Given the description of an element on the screen output the (x, y) to click on. 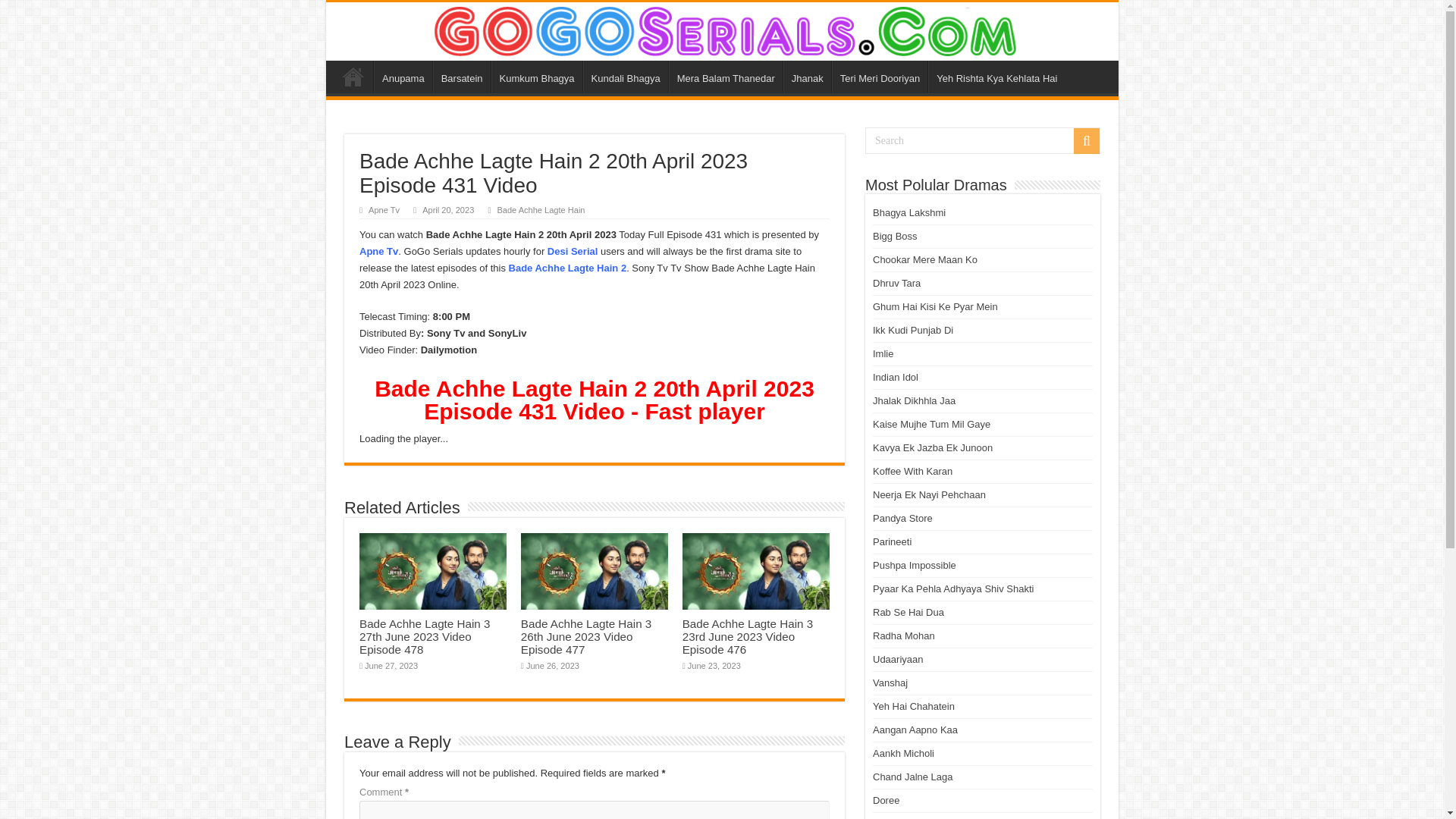
Kundali Bhagya (625, 76)
Bade Achhe Lagte Hain 3 27th June 2023 Video Episode 478 (424, 636)
Dhruv Tara (896, 283)
Jhanak (807, 76)
Teri Meri Dooriyan (879, 76)
Home (352, 76)
Bigg Boss (894, 235)
Kumkum Bhagya (537, 76)
Bade Achhe Lagte Hain 2 (567, 267)
Barsatein (461, 76)
Chookar Mere Maan Ko (924, 259)
GoGo Serials (721, 28)
Anupama (403, 76)
Bade Achhe Lagte Hain (540, 209)
Search (1086, 140)
